Given the description of an element on the screen output the (x, y) to click on. 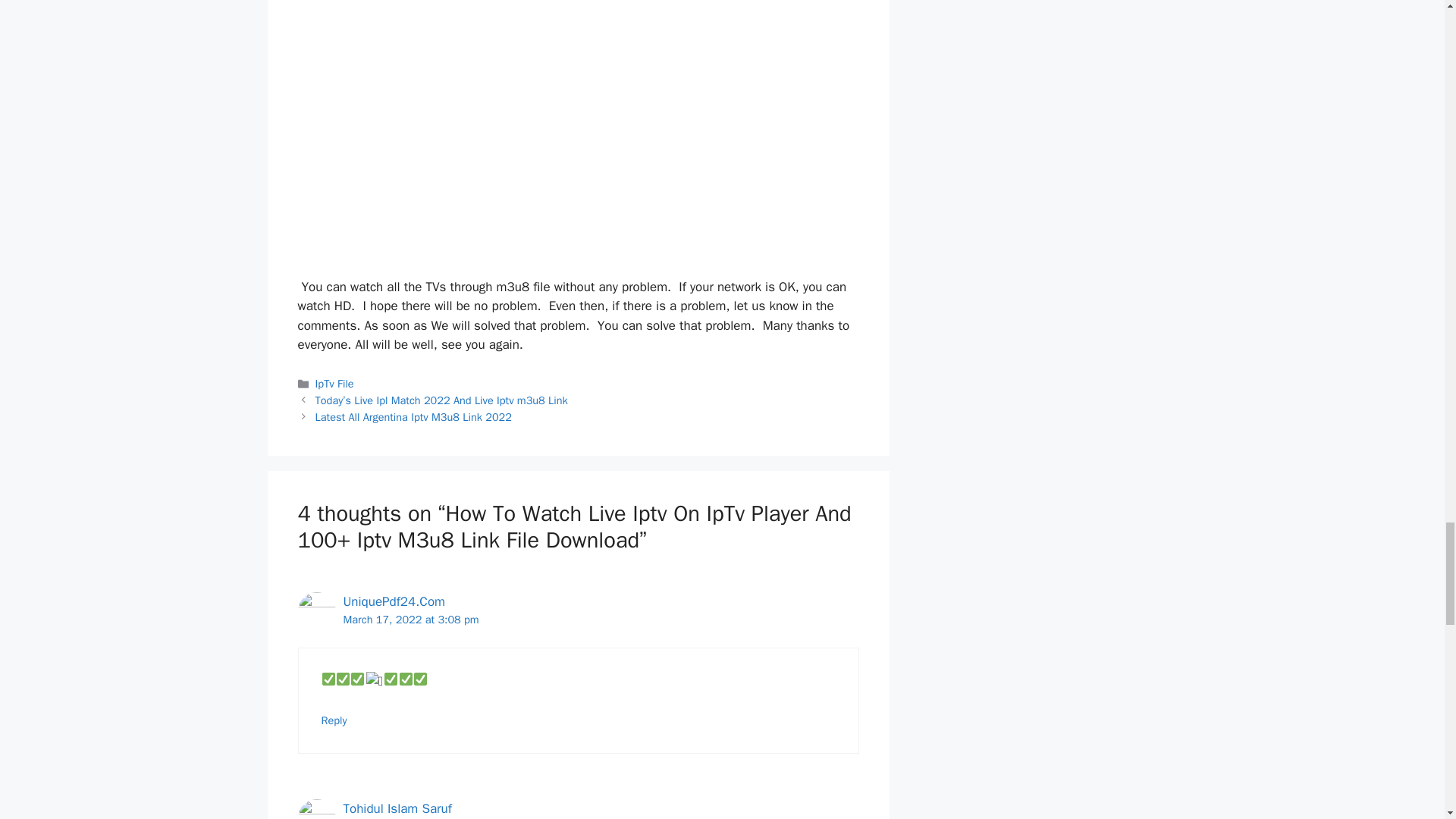
Latest All Argentina Iptv M3u8 Link 2022 (413, 417)
IpTv File (334, 383)
UniquePdf24.Com (393, 601)
Tohidul Islam Saruf (396, 808)
Reply (334, 720)
March 17, 2022 at 3:08 pm (410, 619)
